Given the description of an element on the screen output the (x, y) to click on. 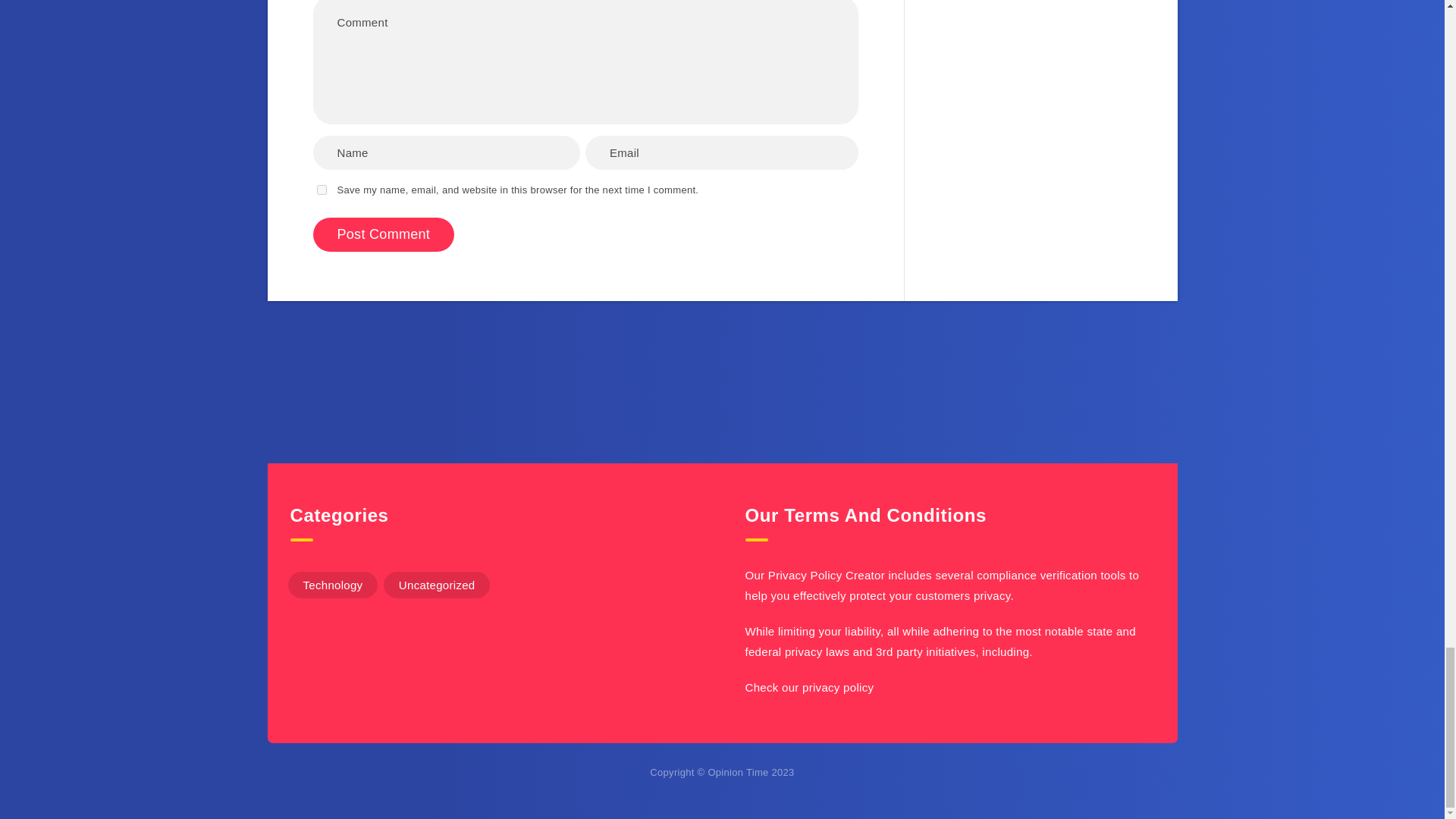
Post Comment (383, 234)
yes (321, 189)
Post Comment (383, 234)
